Given the description of an element on the screen output the (x, y) to click on. 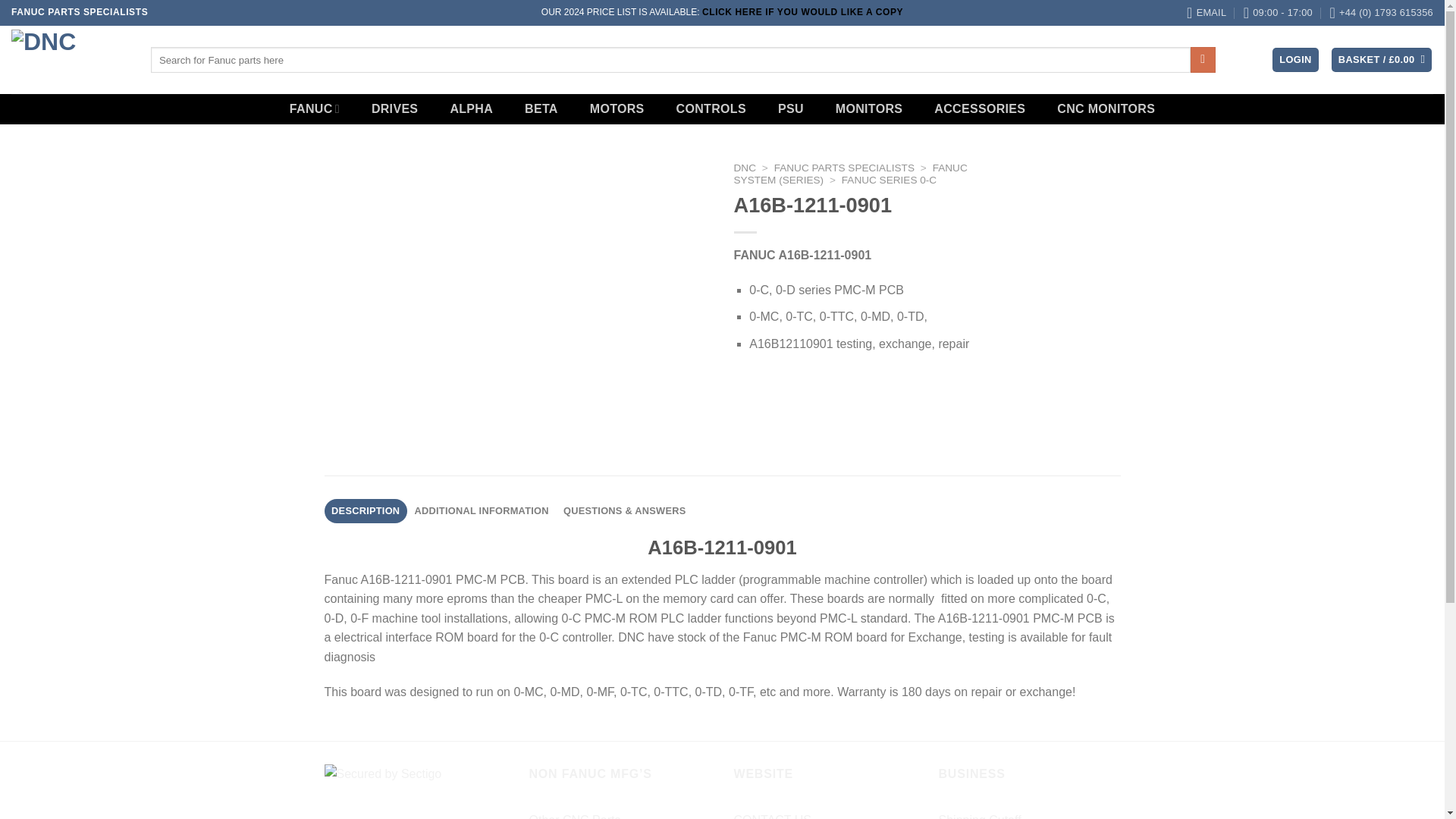
DNC - Independent FANUC CNC specialists (69, 59)
ADDITIONAL INFORMATION (481, 510)
09:00 - 17:00 (1278, 12)
Login (1294, 59)
Other CNC Parts (575, 812)
CONTROLS (710, 109)
Search (1203, 59)
CNC MONITORS (1105, 109)
MOTORS (616, 109)
